Given the description of an element on the screen output the (x, y) to click on. 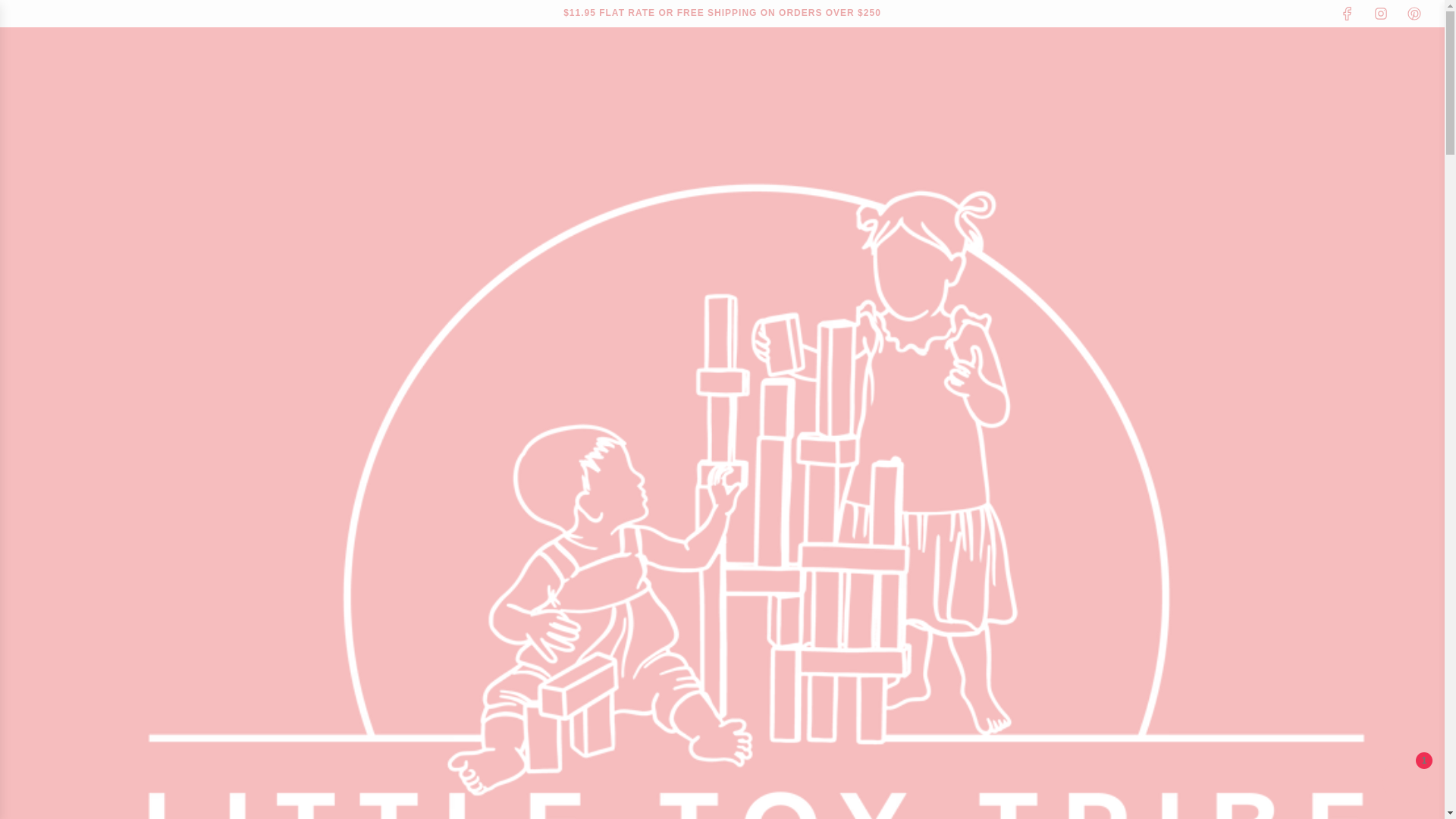
Shopify online store chat (1404, 781)
